Given the description of an element on the screen output the (x, y) to click on. 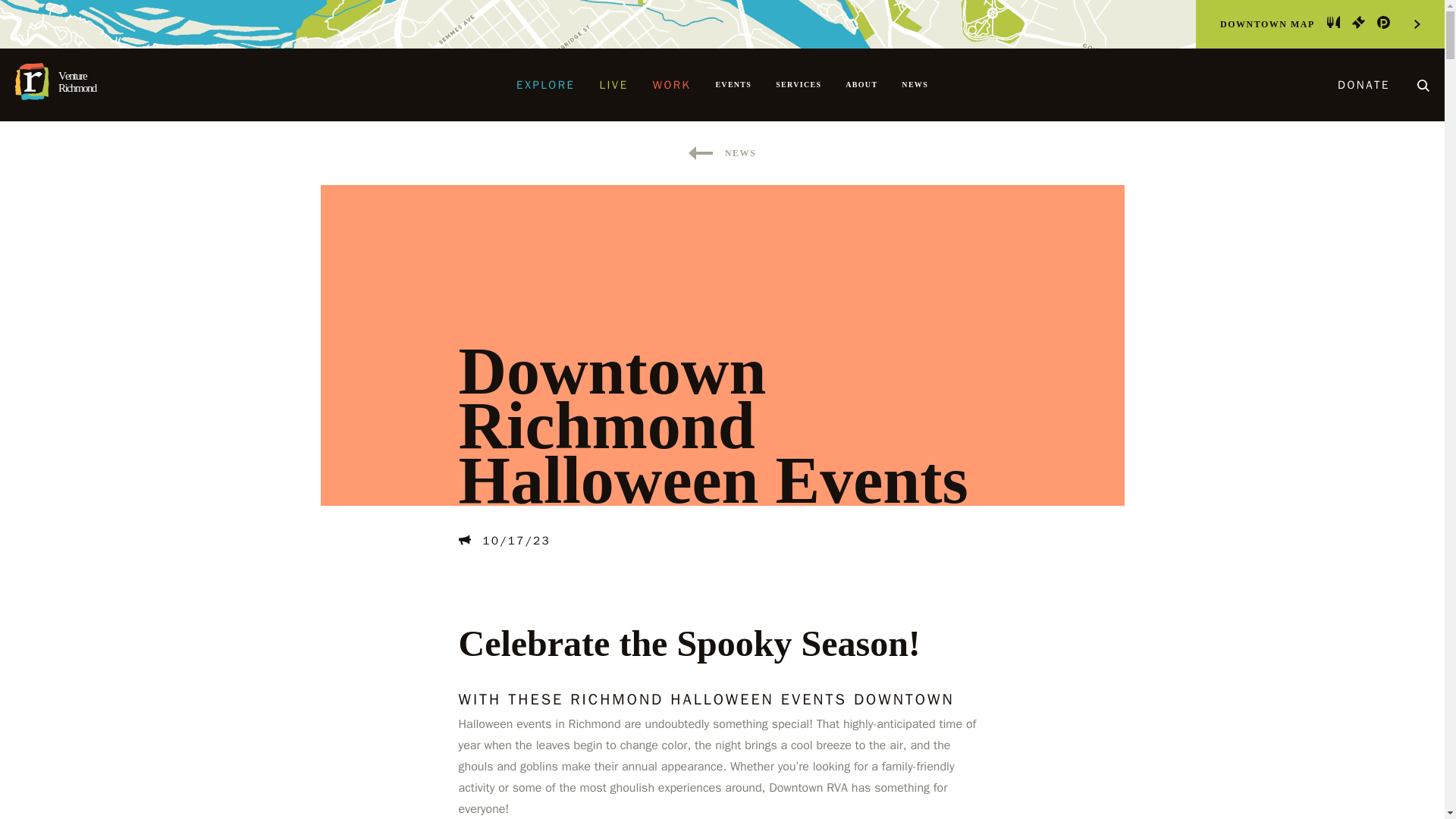
Artboard 2 (65, 85)
SERVICES (1332, 21)
Artboard 3 (797, 84)
Artboard 2 (1383, 21)
EXPLORE (1358, 21)
Artboard 2 (65, 81)
